Given the description of an element on the screen output the (x, y) to click on. 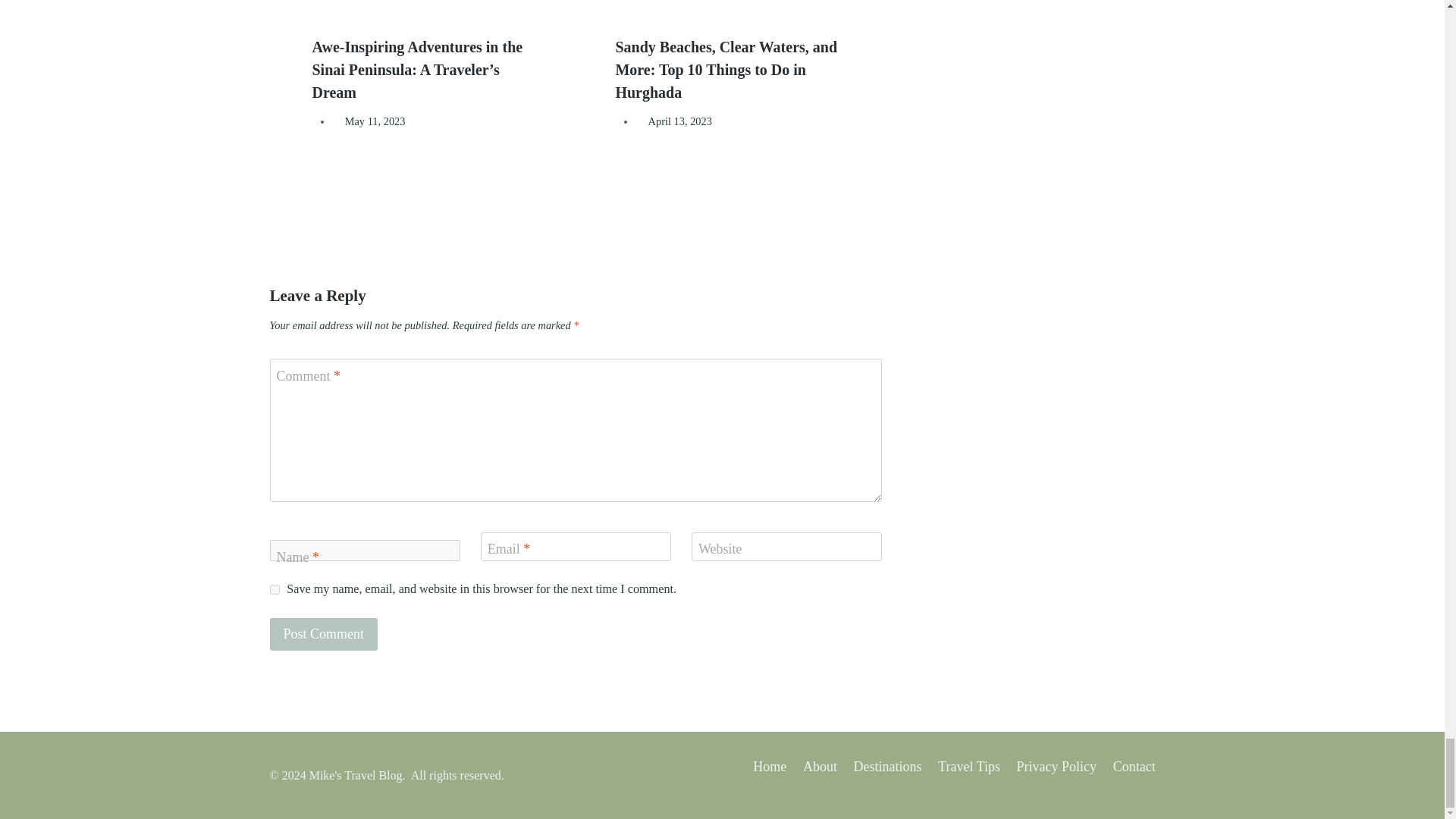
Post Comment (323, 634)
yes (274, 589)
